Given the description of an element on the screen output the (x, y) to click on. 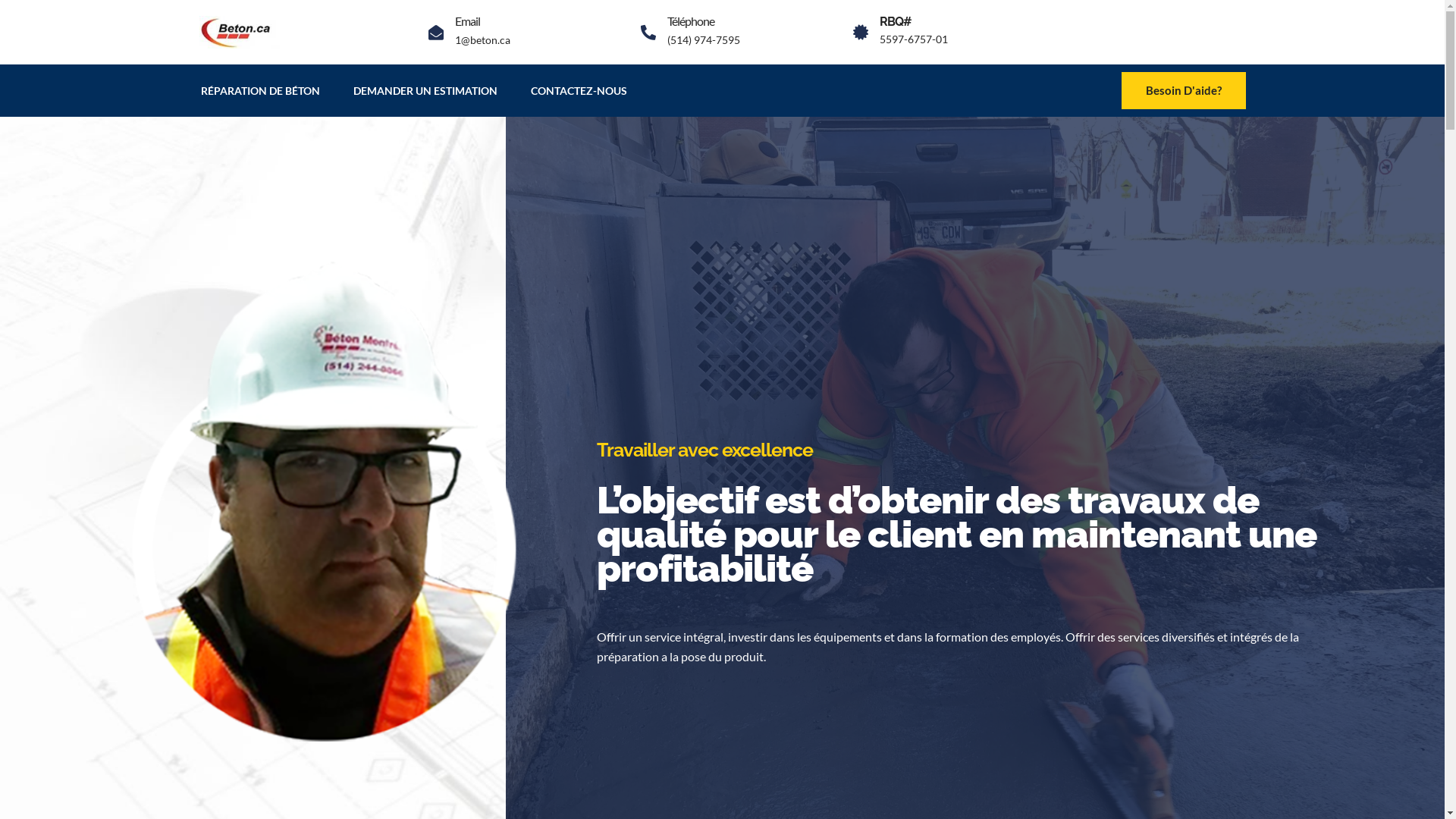
CONTACTEZ-NOUS Element type: text (578, 90)
LOGO Element type: hover (240, 31)
Email Element type: text (467, 20)
Besoin D'Aide? Element type: text (1182, 90)
DEMANDER UN ESTIMATION Element type: text (425, 90)
